Given the description of an element on the screen output the (x, y) to click on. 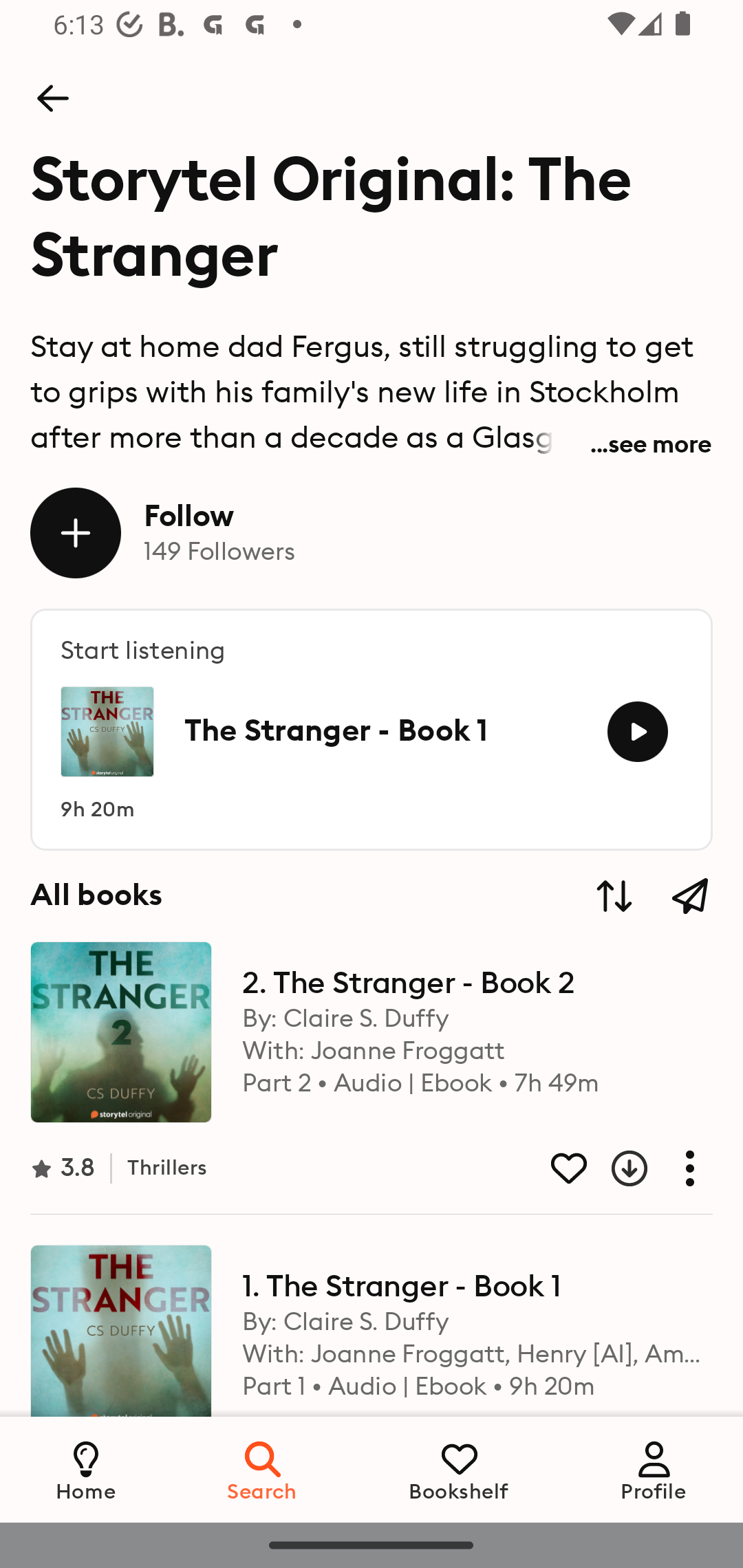
Back (52, 98)
Listen to book (637, 731)
Download (613, 1167)
Home (85, 1468)
Search (262, 1468)
Bookshelf (458, 1468)
Profile (653, 1468)
